Given the description of an element on the screen output the (x, y) to click on. 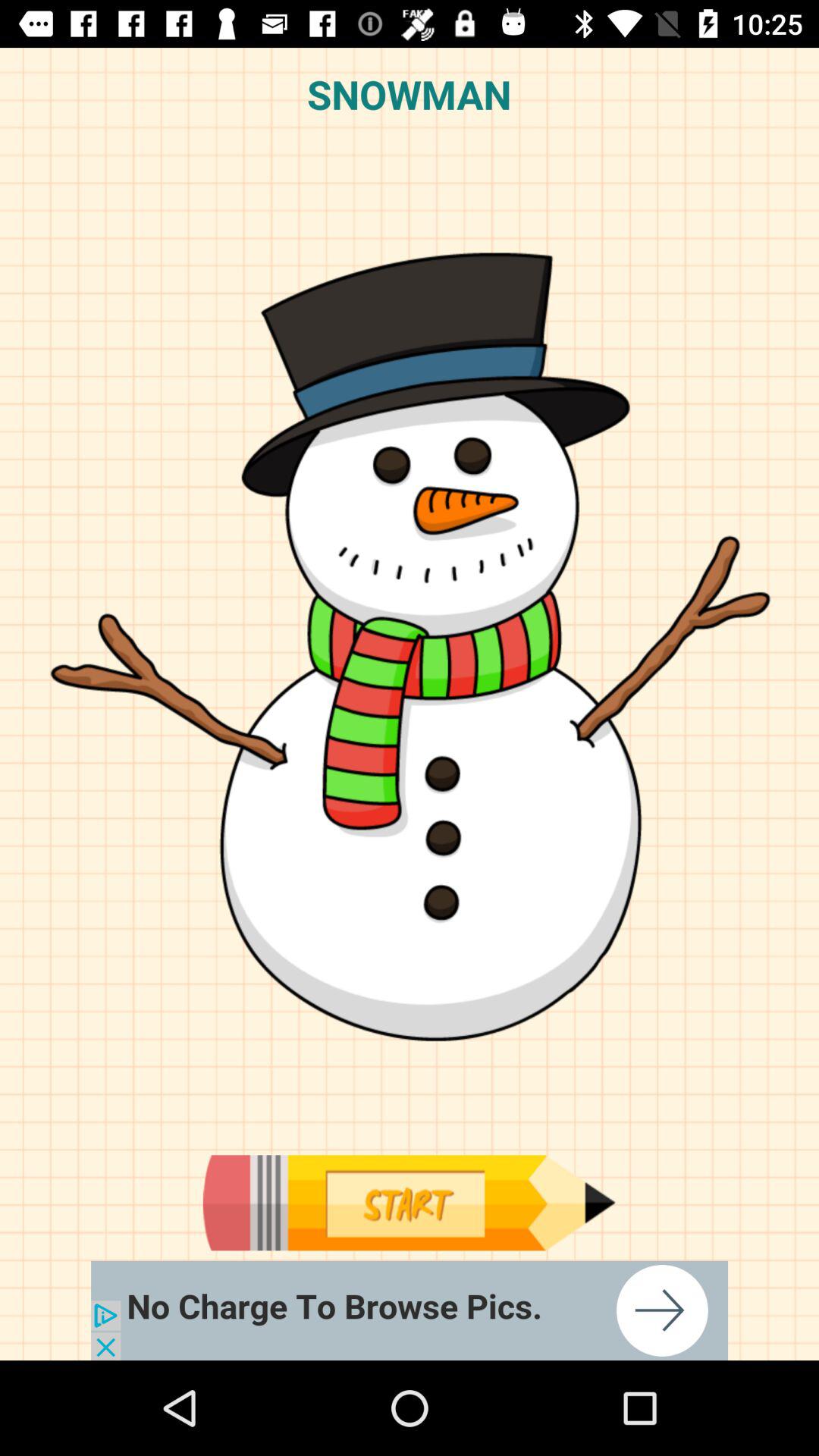
add banner (409, 1310)
